Given the description of an element on the screen output the (x, y) to click on. 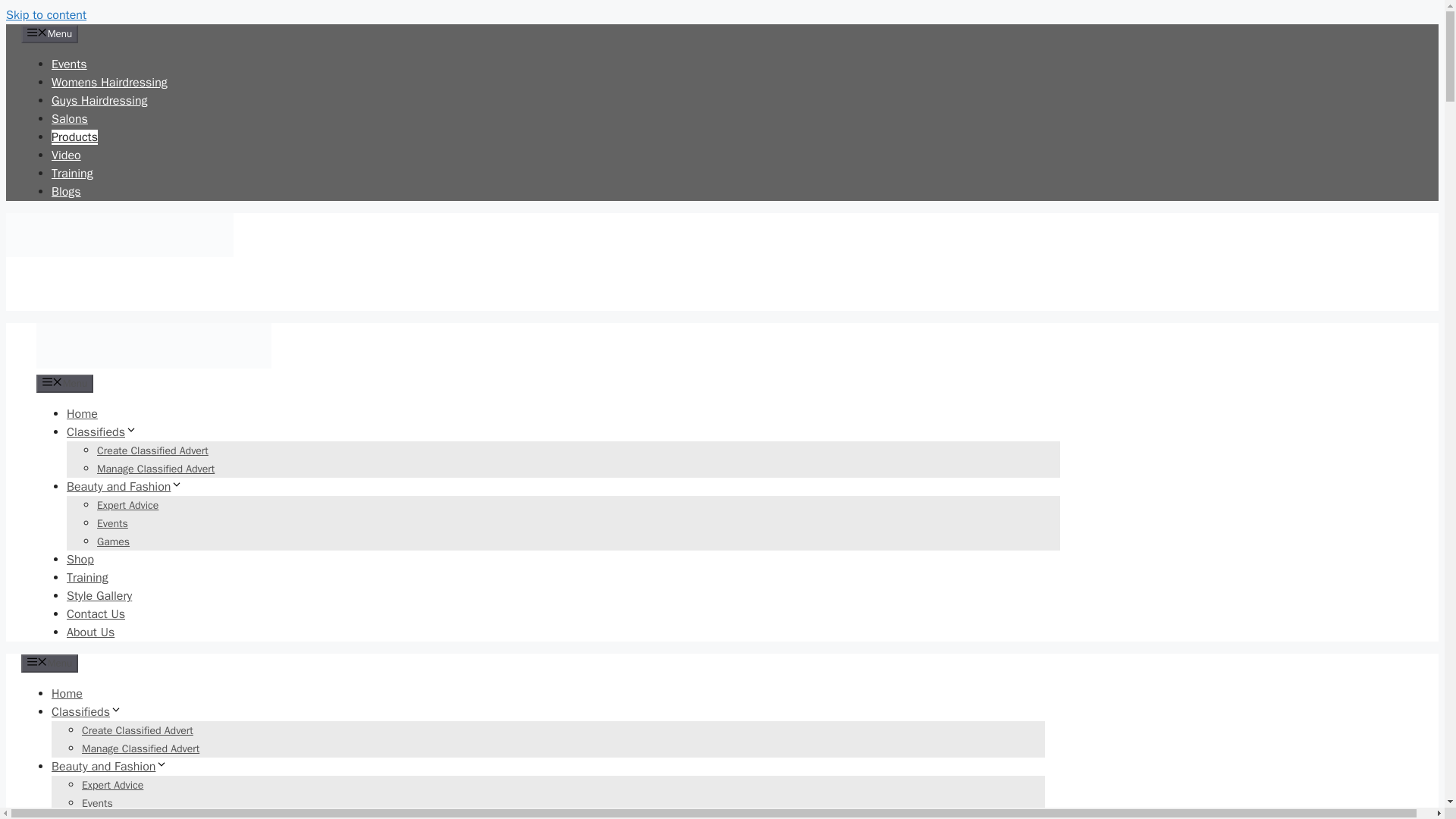
Training (71, 173)
Contact Us (95, 613)
Beauty and Fashion (124, 486)
Blogs (65, 191)
Menu (49, 663)
Video (65, 155)
Style Gallery (99, 595)
Home (81, 413)
About Us (90, 631)
Beauty and Fashion (108, 766)
Classifieds (86, 711)
Classifieds (101, 432)
Expert Advice (127, 504)
Create Classified Advert (152, 450)
Manage Classified Advert (155, 468)
